Given the description of an element on the screen output the (x, y) to click on. 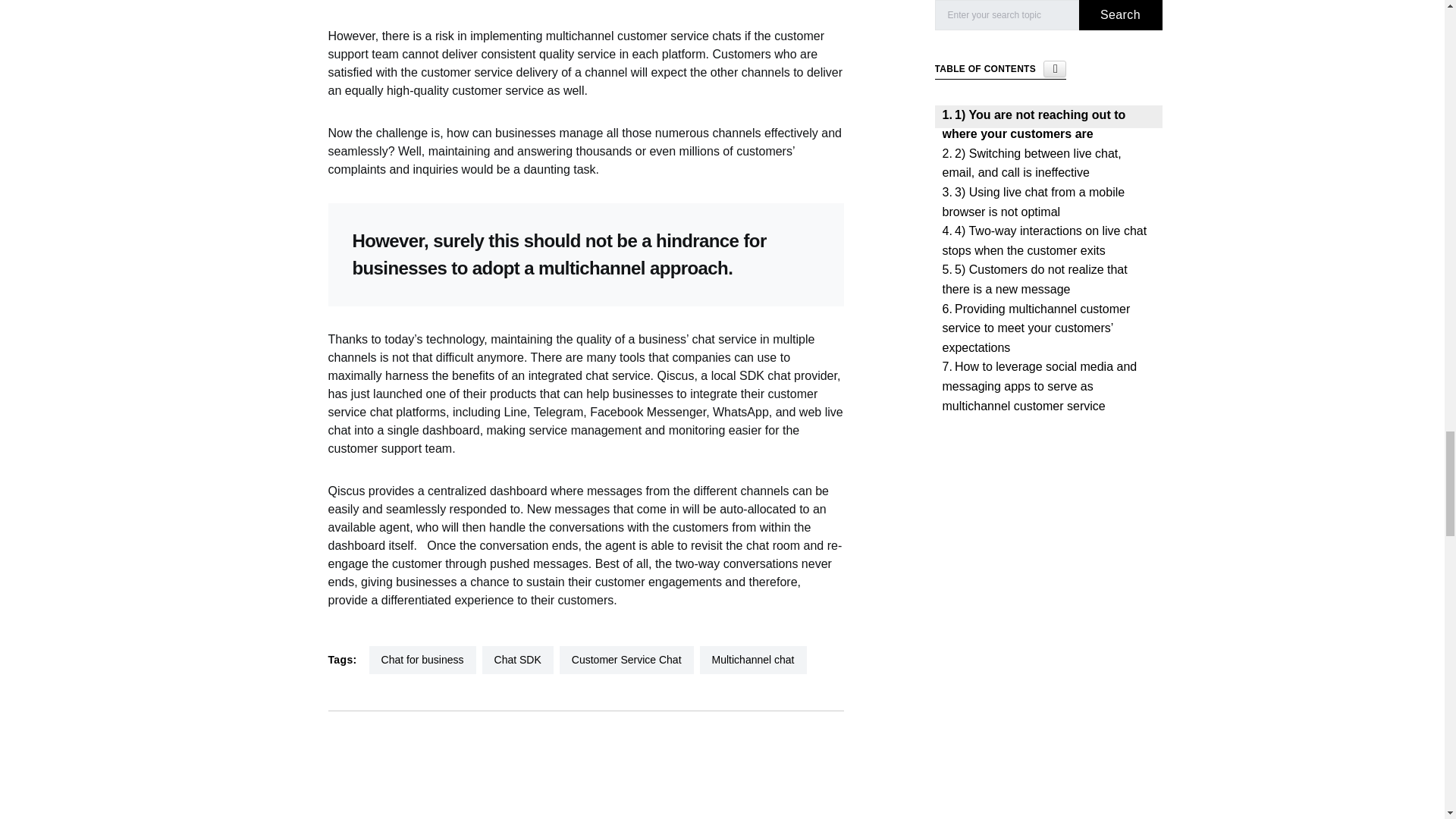
multichannel chat (753, 660)
Customer Service Chat (626, 660)
Chat SDK (517, 660)
chat for business (422, 660)
